Given the description of an element on the screen output the (x, y) to click on. 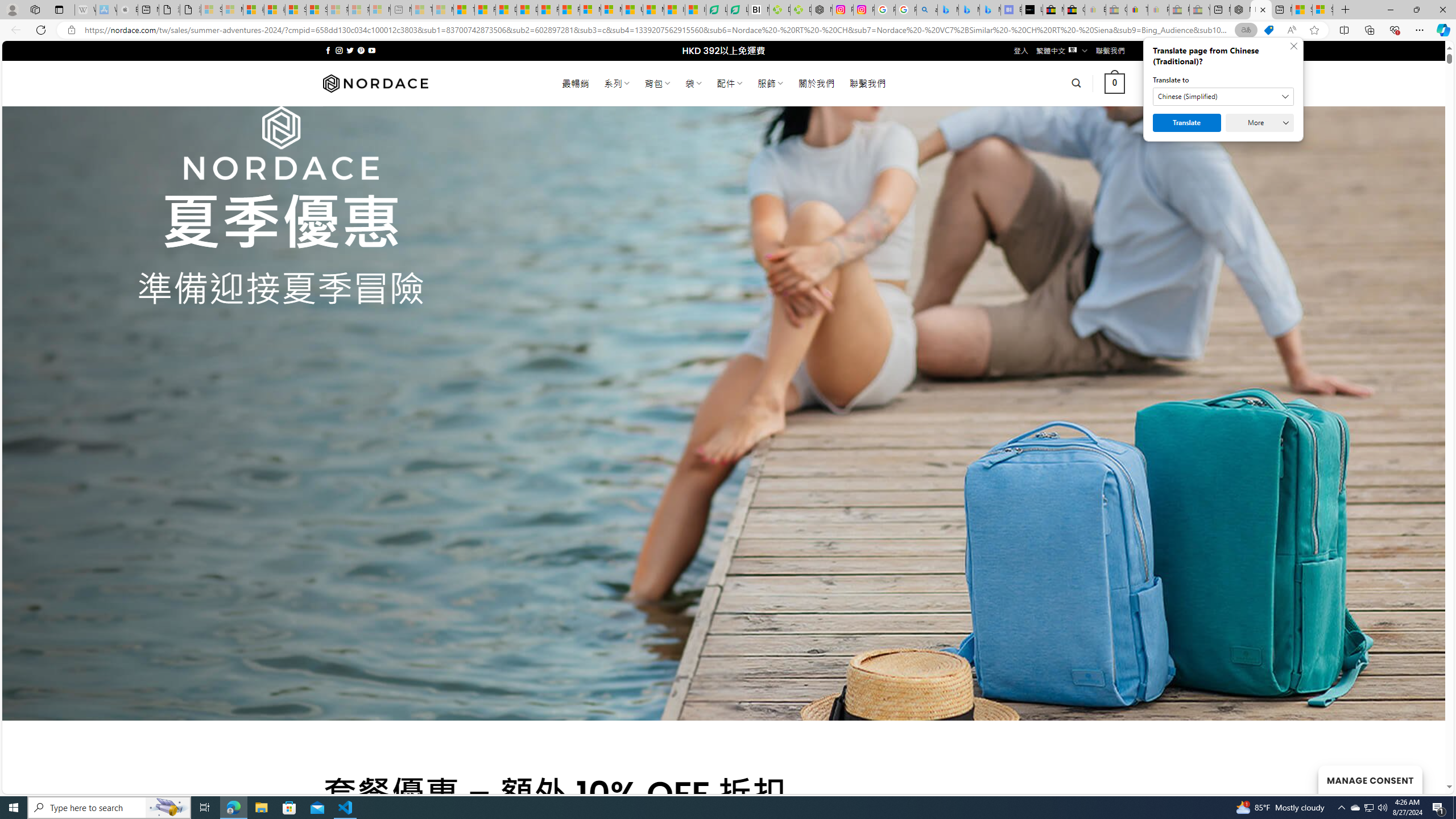
Follow on Pinterest (360, 50)
Shanghai, China hourly forecast | Microsoft Weather (1302, 9)
Follow on Facebook (327, 50)
Sign in to your Microsoft account (1322, 9)
Nordace - Summer Adventures 2024 (1261, 9)
Microsoft account | Account Checkup - Sleeping (379, 9)
